Given the description of an element on the screen output the (x, y) to click on. 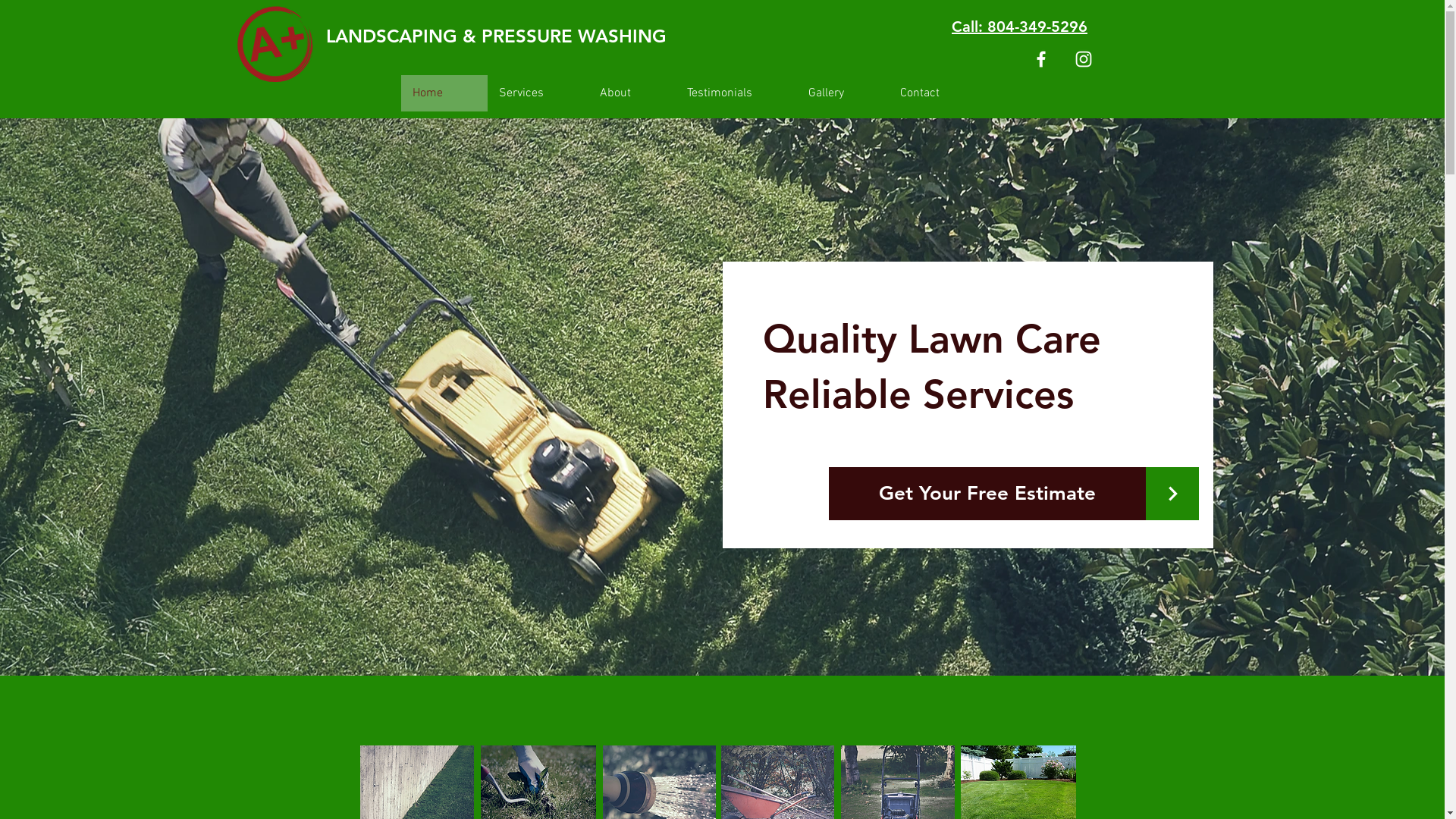
Gallery Element type: text (842, 93)
Home Element type: text (443, 93)
Contact Element type: text (935, 93)
LANDSCAPING & PRESSURE WASHING Element type: text (507, 35)
Call: 804-349-5296 Element type: text (1019, 26)
About Element type: text (631, 93)
Testimonials Element type: text (735, 93)
Get Your Free Estimate Element type: text (987, 493)
Services Element type: text (536, 93)
